Given the description of an element on the screen output the (x, y) to click on. 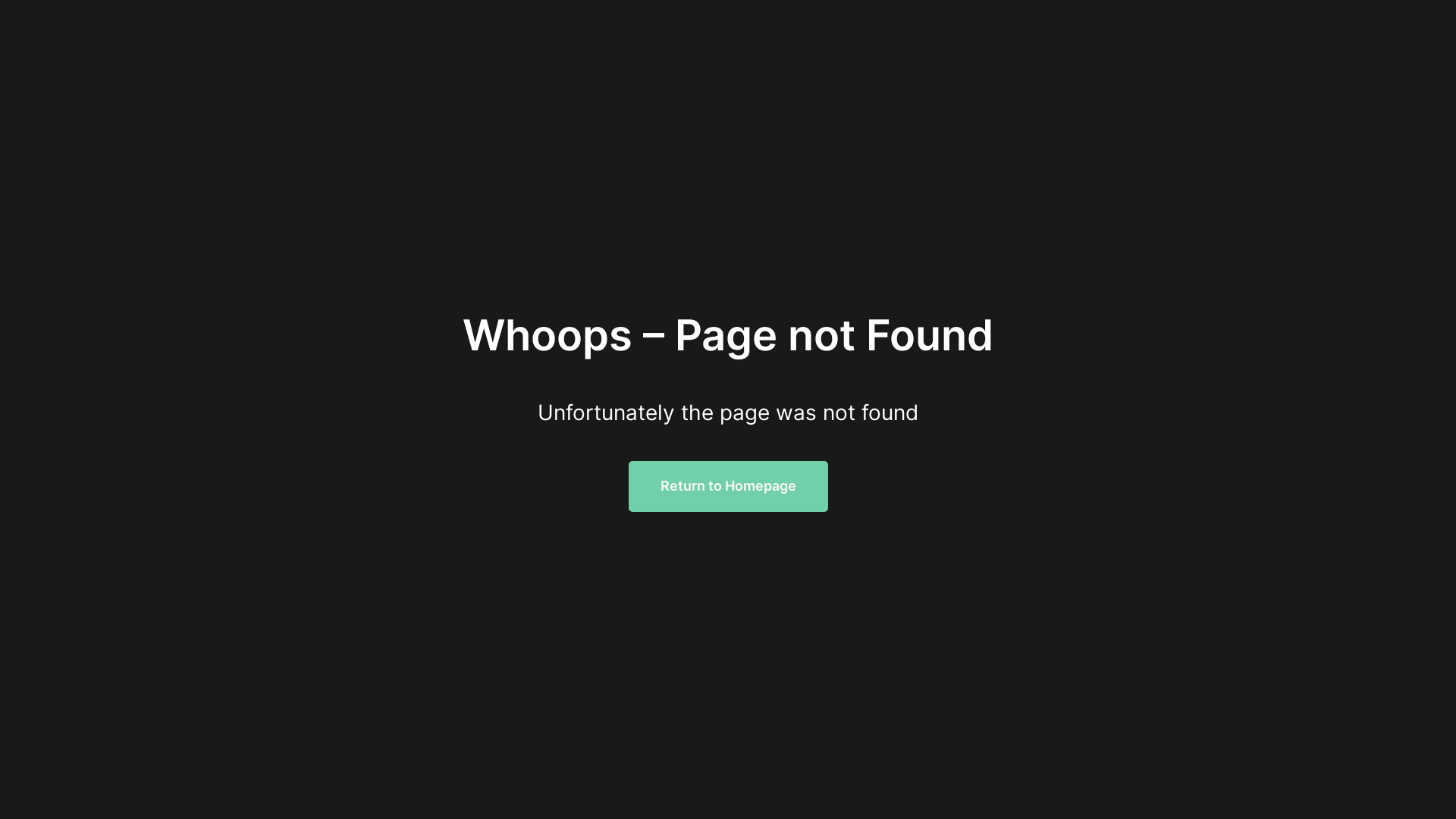
Return to Homepage Element type: text (727, 486)
